Given the description of an element on the screen output the (x, y) to click on. 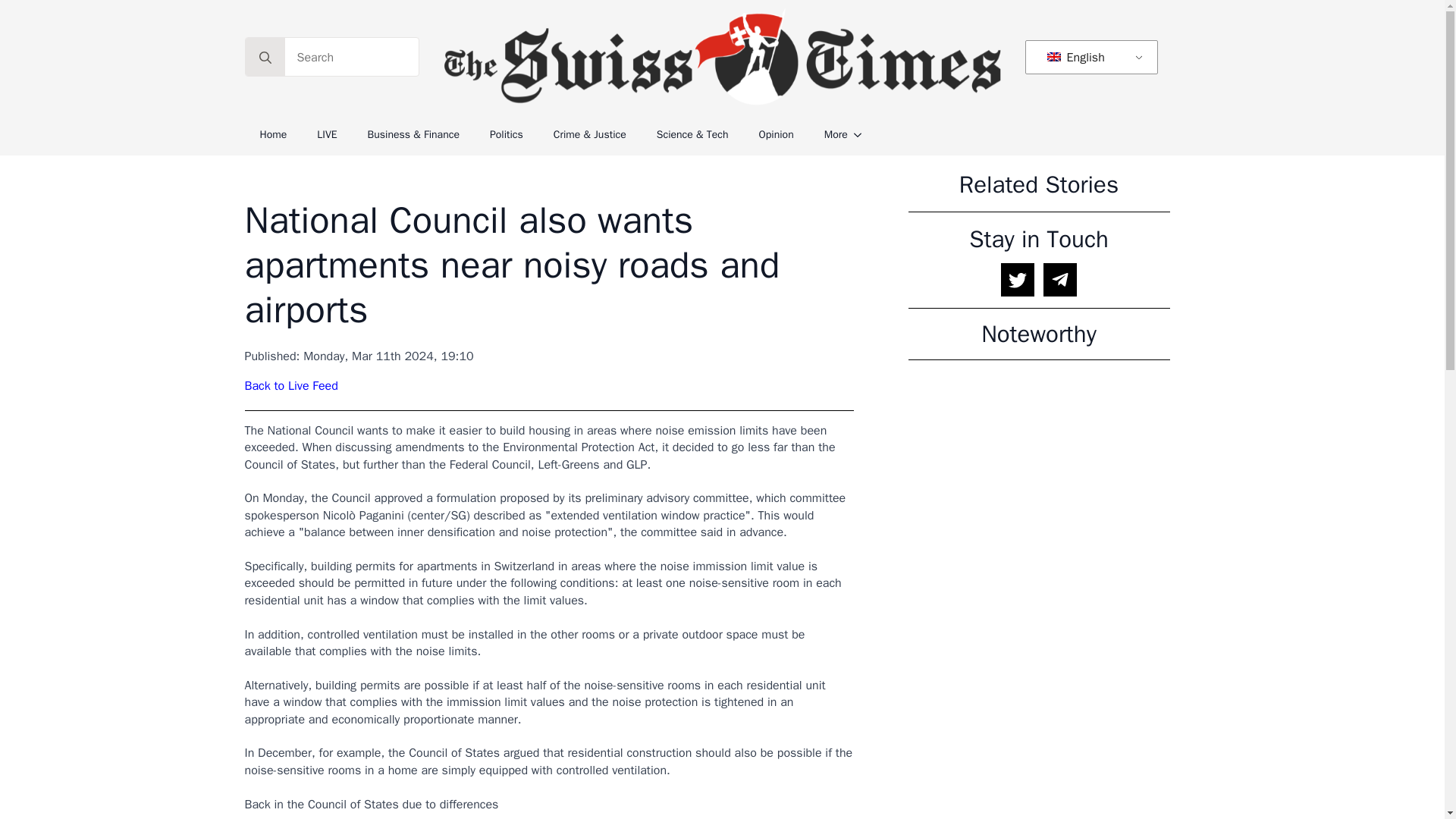
More (828, 134)
LIVE (326, 134)
Politics (506, 134)
Home (272, 134)
English (1053, 56)
English (1088, 57)
English (1088, 57)
Opinion (776, 134)
